Given the description of an element on the screen output the (x, y) to click on. 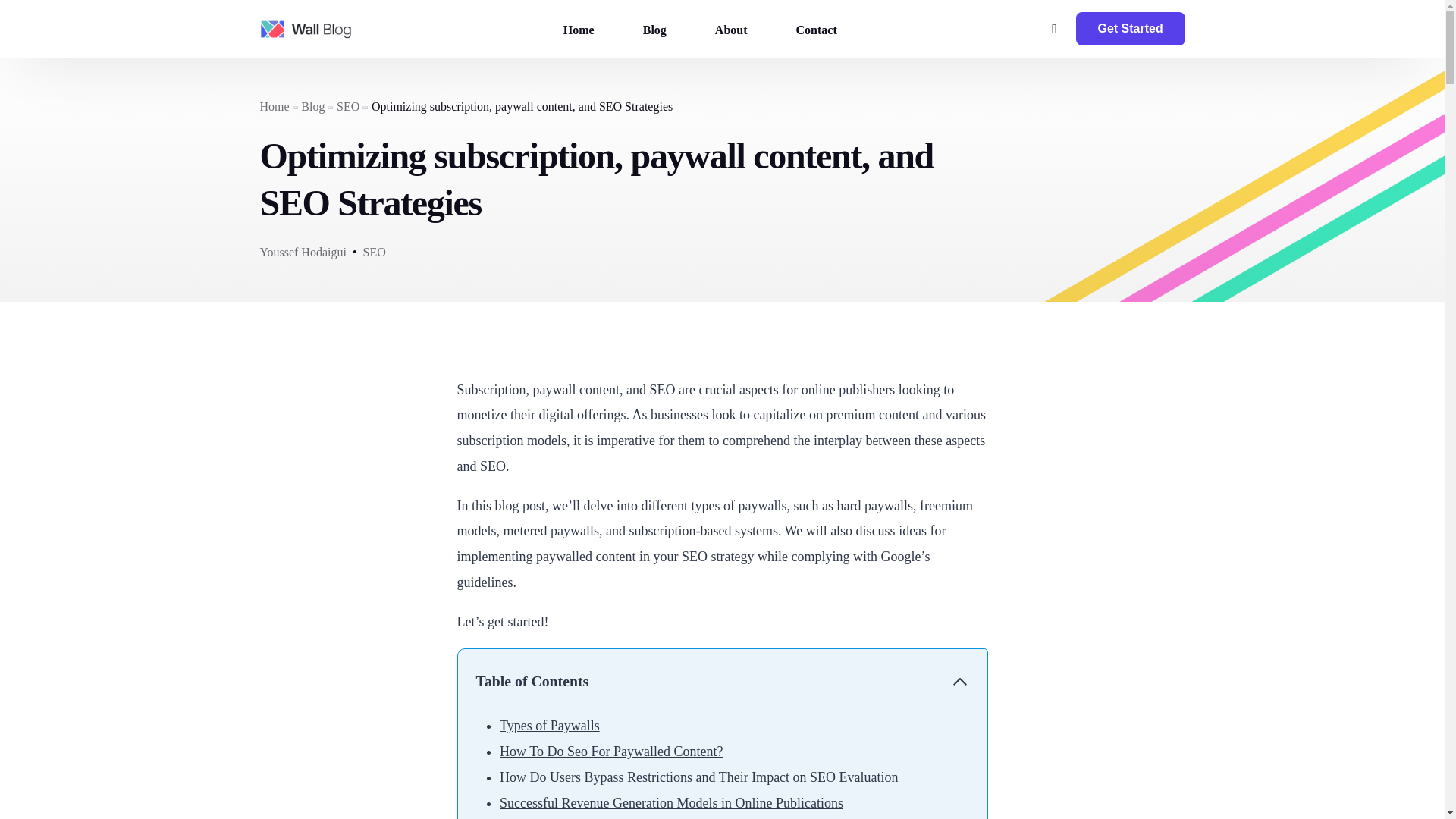
How To Do Seo For Paywalled Content? (610, 751)
Contact (816, 29)
Blog (654, 29)
Home (273, 106)
SEO (373, 251)
SEO (347, 106)
Home (578, 29)
Youssef Hodaigui (302, 251)
Types of Paywalls (549, 725)
Successful Revenue Generation Models in Online Publications (671, 802)
About (730, 29)
Blog (312, 106)
Get Started (1130, 28)
